Given the description of an element on the screen output the (x, y) to click on. 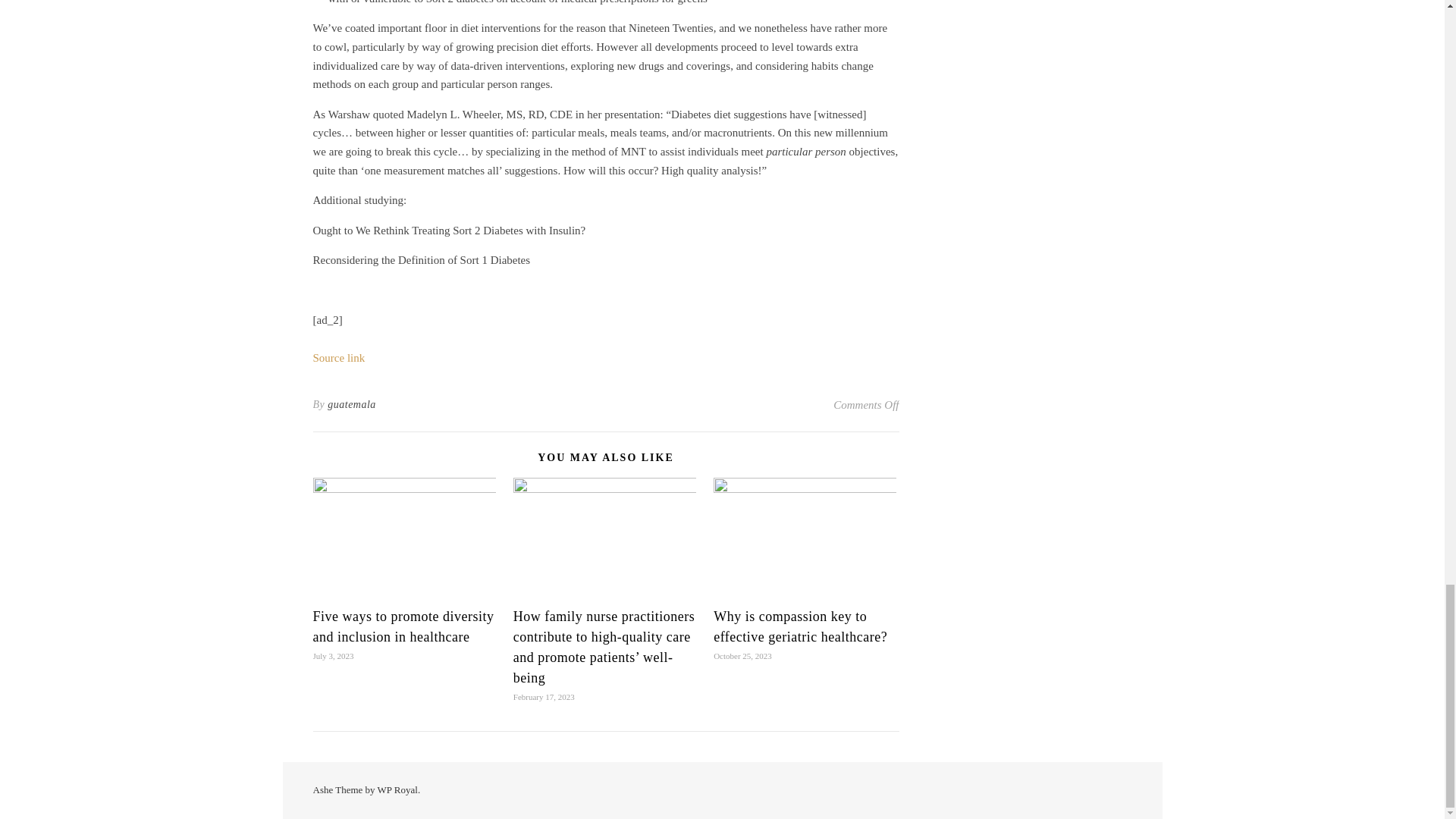
guatemala (351, 404)
Source link (339, 357)
Posts by guatemala (351, 404)
Why is compassion key to effective geriatric healthcare? (799, 626)
Five ways to promote diversity and inclusion in healthcare (403, 626)
